Given the description of an element on the screen output the (x, y) to click on. 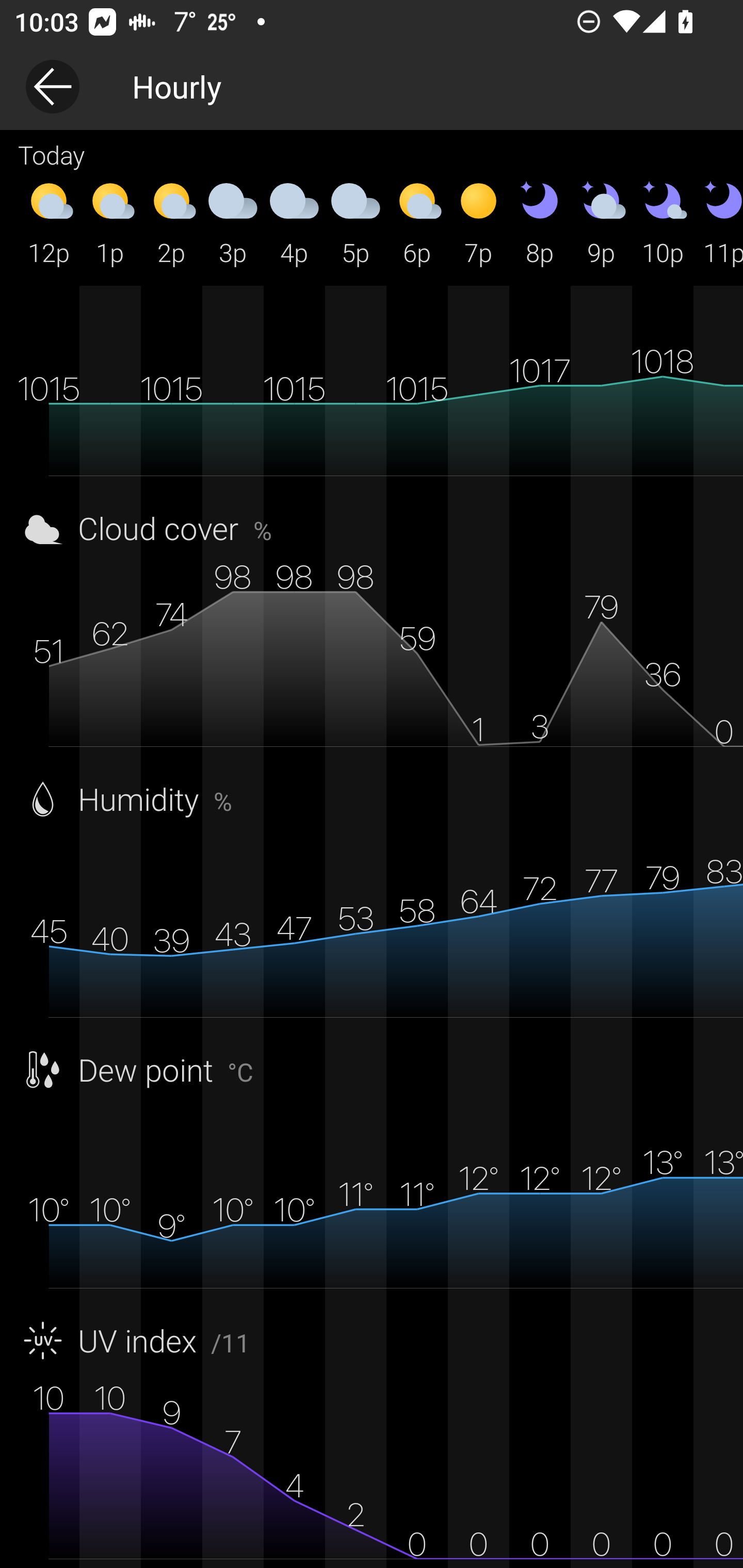
12p (48, 222)
1p (110, 222)
2p (171, 222)
3p (232, 222)
4p (294, 222)
5p (355, 222)
6p (417, 222)
7p (478, 222)
8p (539, 222)
9p (601, 222)
10p (662, 222)
11p (718, 222)
